Given the description of an element on the screen output the (x, y) to click on. 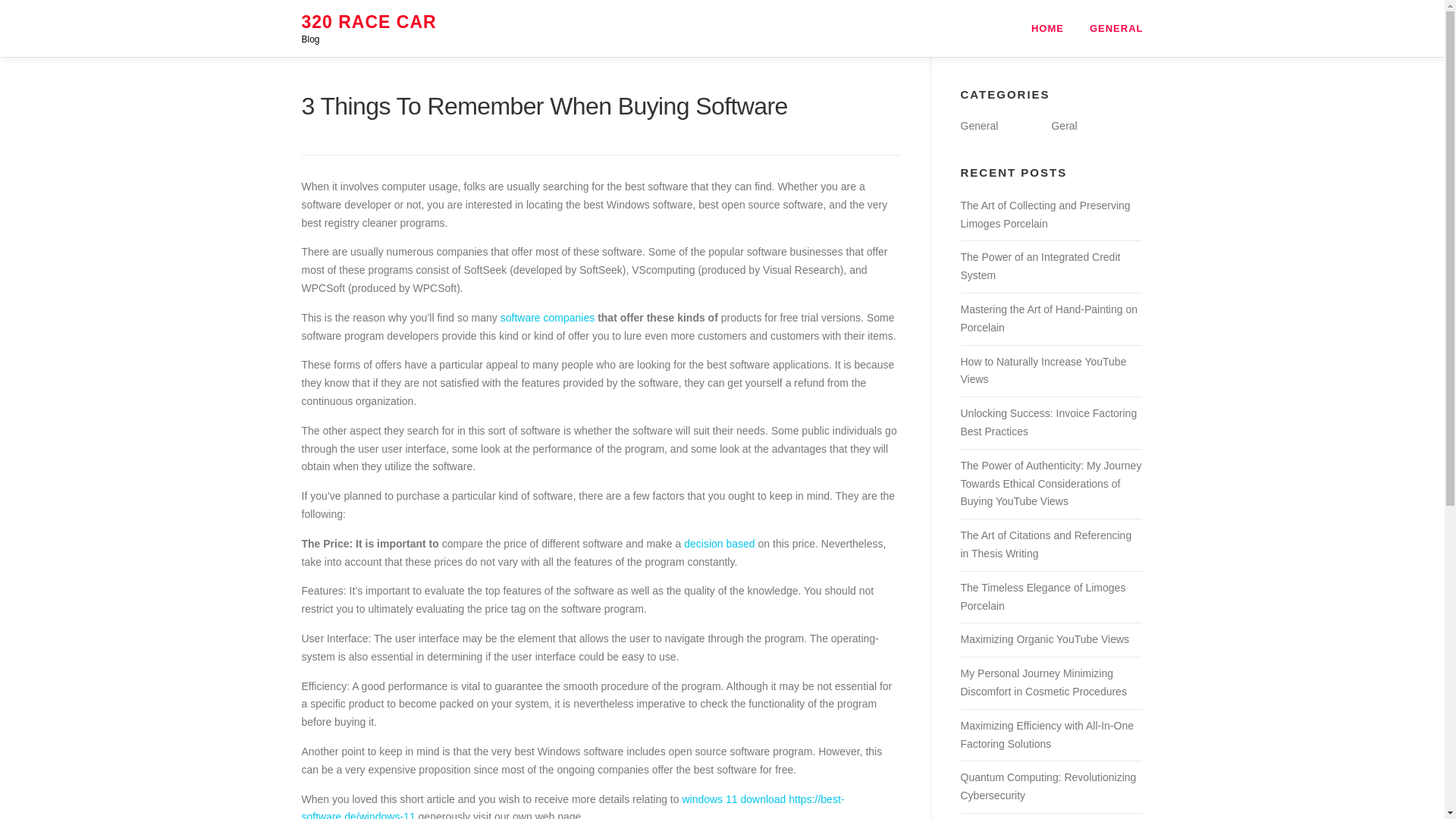
Geral (1064, 125)
Maximizing Efficiency with All-In-One Factoring Solutions (1045, 734)
The Art of Collecting and Preserving Limoges Porcelain (1044, 214)
The Power of an Integrated Credit System (1039, 265)
Mastering the Art of Hand-Painting on Porcelain (1048, 318)
The Timeless Elegance of Limoges Porcelain (1042, 596)
HOME (1047, 28)
Maximizing Organic YouTube Views (1044, 639)
Unlocking Success: Invoice Factoring Best Practices (1048, 422)
The Art of Citations and Referencing in Thesis Writing (1045, 544)
GENERAL (1109, 28)
320 RACE CAR (368, 21)
Quantum Computing: Revolutionizing Cybersecurity (1047, 786)
software companies (547, 317)
